Given the description of an element on the screen output the (x, y) to click on. 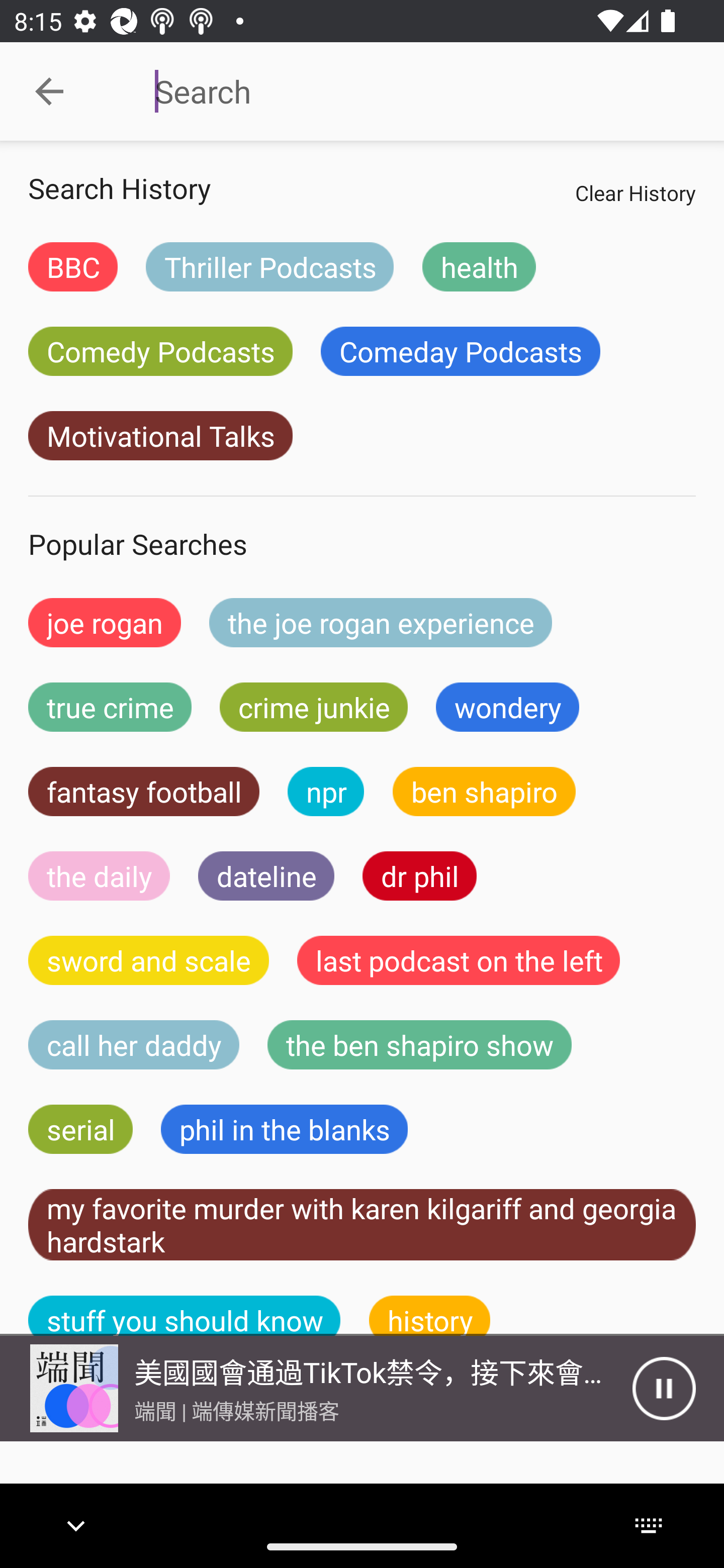
Collapse (49, 91)
Search (407, 91)
Clear History (634, 192)
BBC (72, 266)
Thriller Podcasts (269, 266)
health (478, 266)
Comedy Podcasts (160, 351)
Comeday Podcasts (460, 351)
Motivational Talks (160, 435)
joe rogan (104, 622)
the joe rogan experience (380, 622)
true crime (109, 707)
crime junkie (313, 707)
wondery (507, 707)
fantasy football (143, 791)
npr (325, 791)
ben shapiro (483, 791)
the daily (99, 875)
dateline (266, 875)
dr phil (419, 875)
sword and scale (148, 960)
last podcast on the left (458, 960)
call her daddy (133, 1044)
the ben shapiro show (419, 1044)
serial (80, 1128)
phil in the blanks (283, 1128)
stuff you should know (184, 1315)
history (429, 1315)
Picture 美國國會通過TikTok禁令，接下來會發生什麼？ 端聞 | 端傳媒新聞播客 (316, 1388)
Pause (663, 1388)
